Given the description of an element on the screen output the (x, y) to click on. 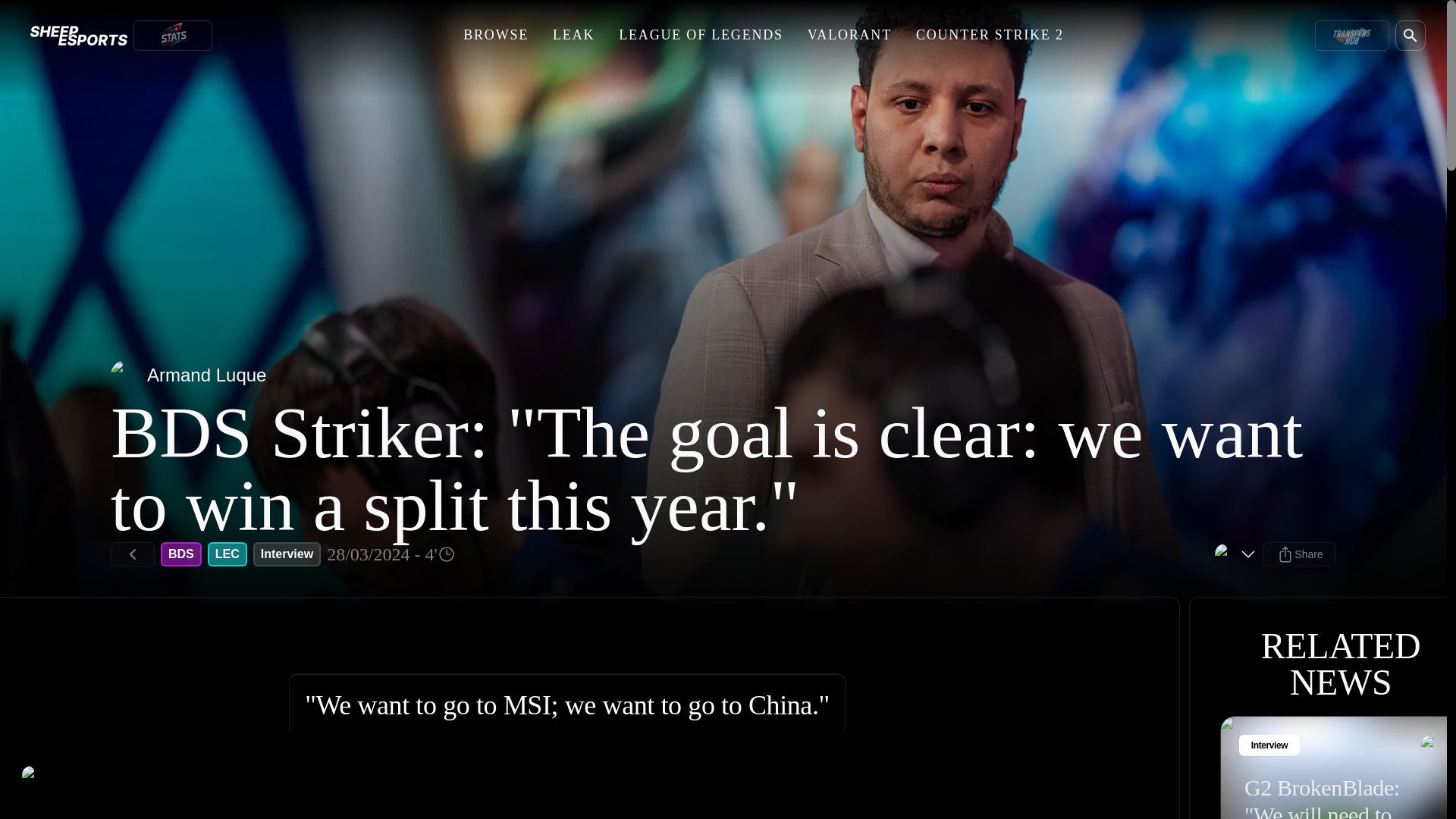
Interview (286, 554)
Share (1299, 554)
Armand Luque (188, 375)
LEC (227, 554)
BDS (181, 554)
